Given the description of an element on the screen output the (x, y) to click on. 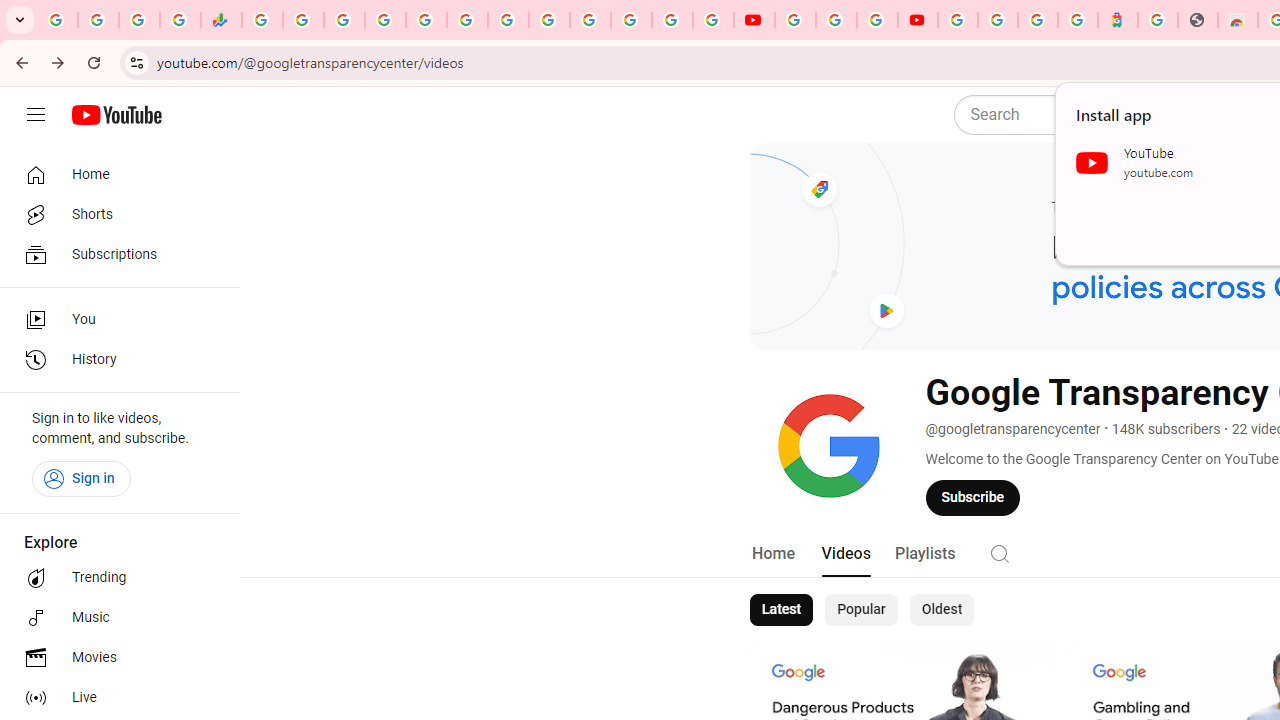
Playlists (924, 553)
YouTube (753, 20)
Content Creator Programs & Opportunities - YouTube Creators (918, 20)
Home (772, 553)
Privacy Checkup (712, 20)
